Given the description of an element on the screen output the (x, y) to click on. 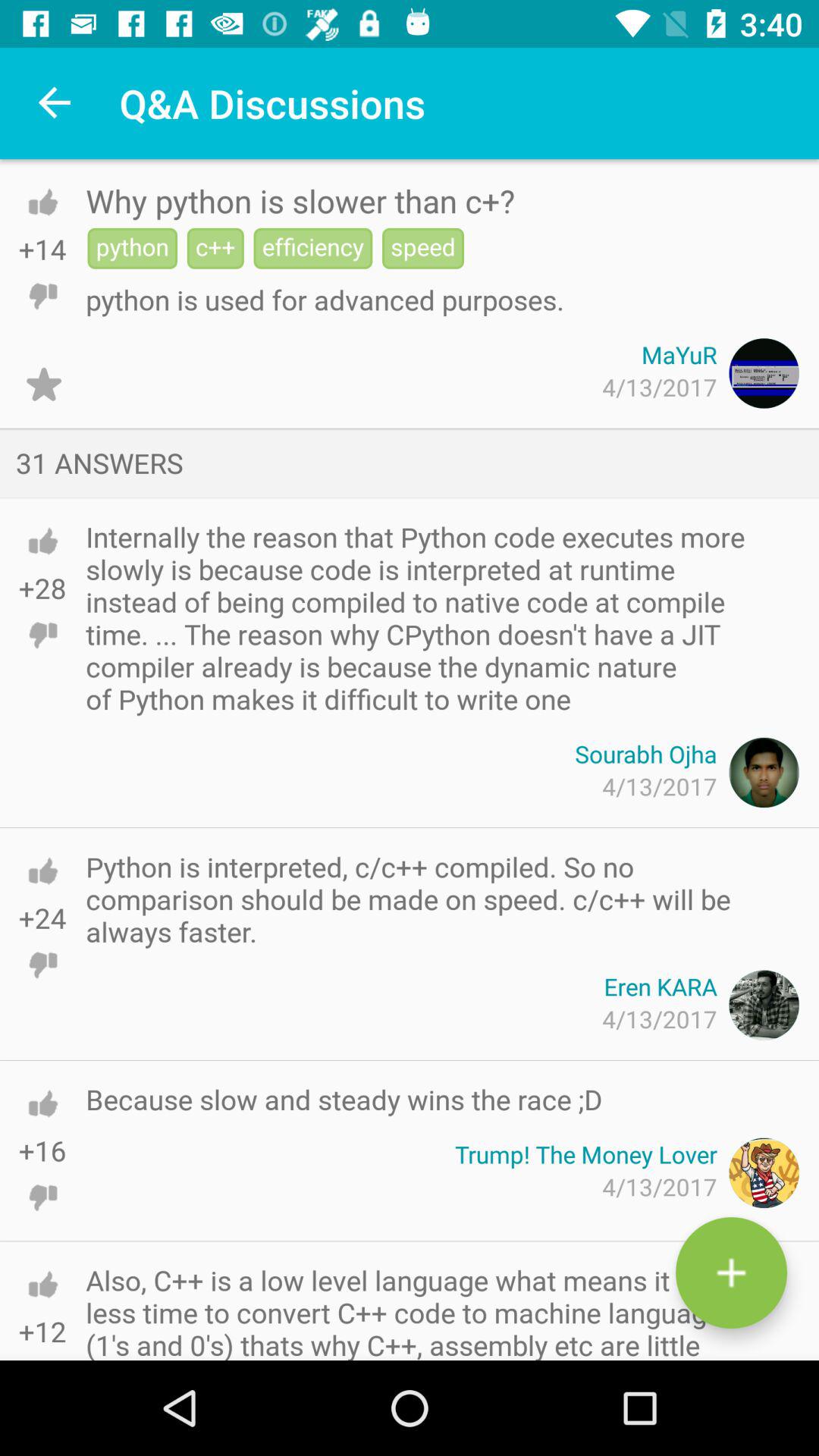
add comment (731, 1272)
